Given the description of an element on the screen output the (x, y) to click on. 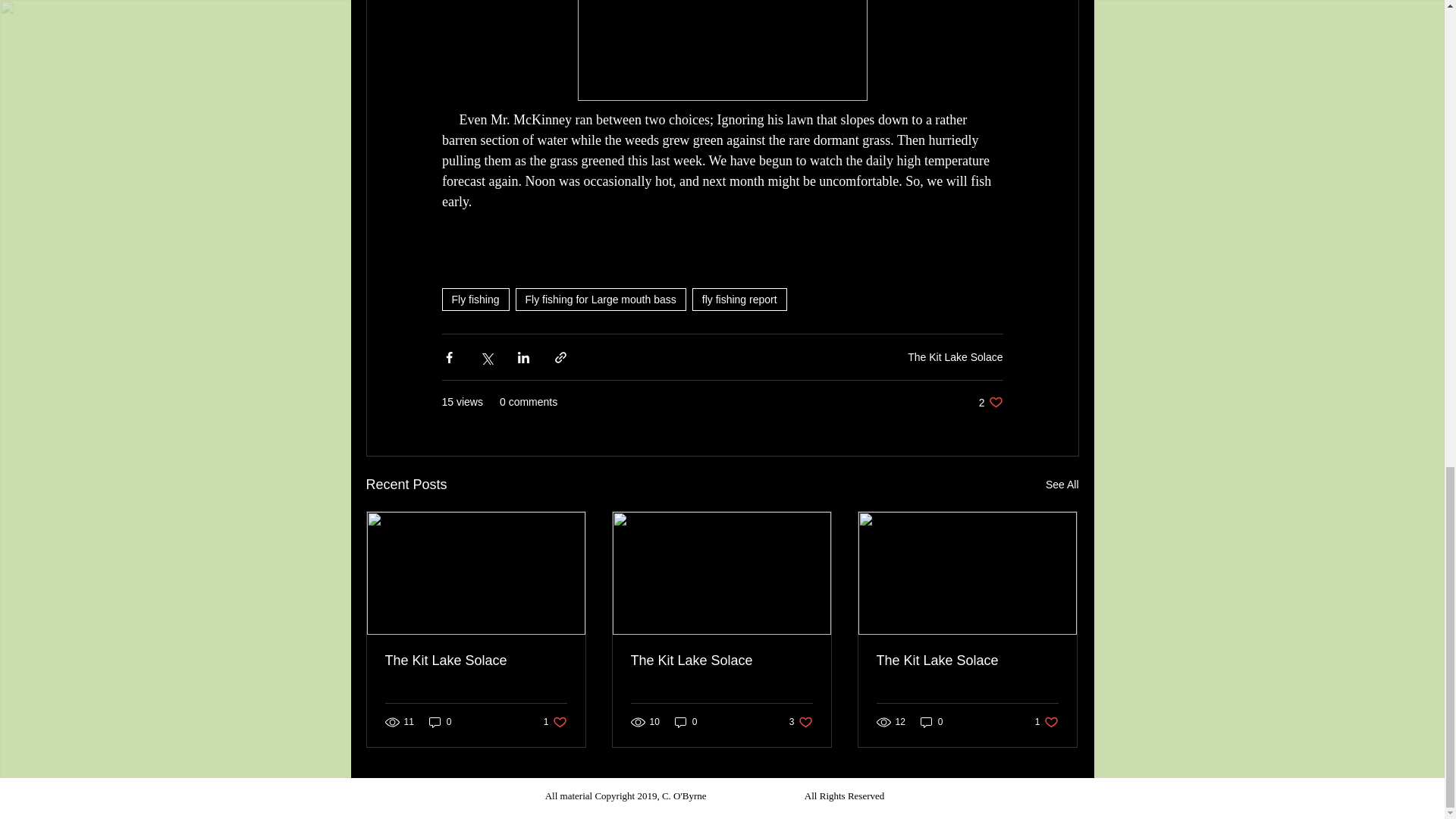
fly fishing report (740, 299)
The Kit Lake Solace (476, 660)
The Kit Lake Solace (721, 660)
0 (990, 401)
Fly fishing for Large mouth bass (800, 721)
See All (685, 721)
Fly fishing (600, 299)
